Given the description of an element on the screen output the (x, y) to click on. 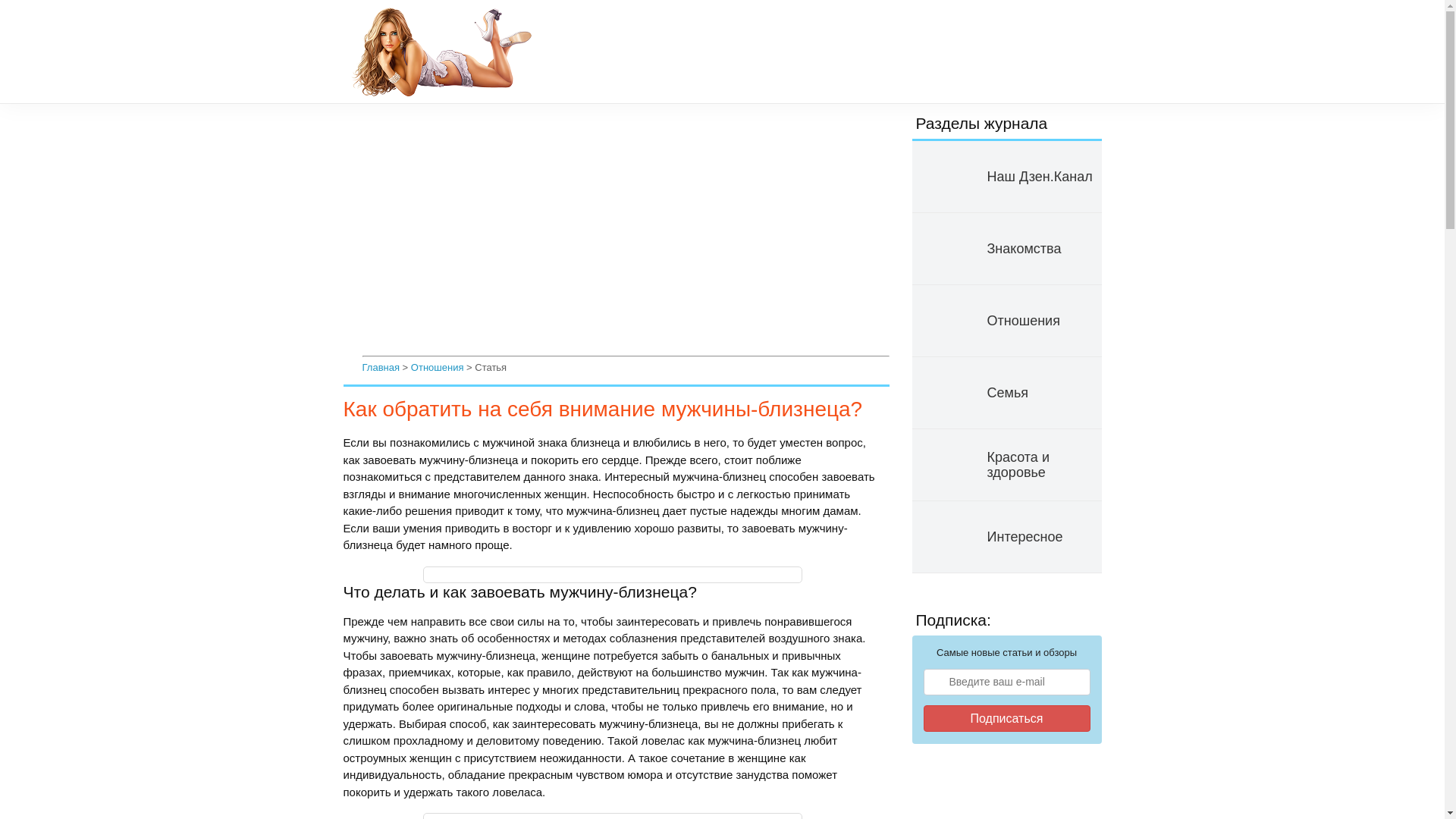
Advertisement Element type: hover (625, 232)
